Given the description of an element on the screen output the (x, y) to click on. 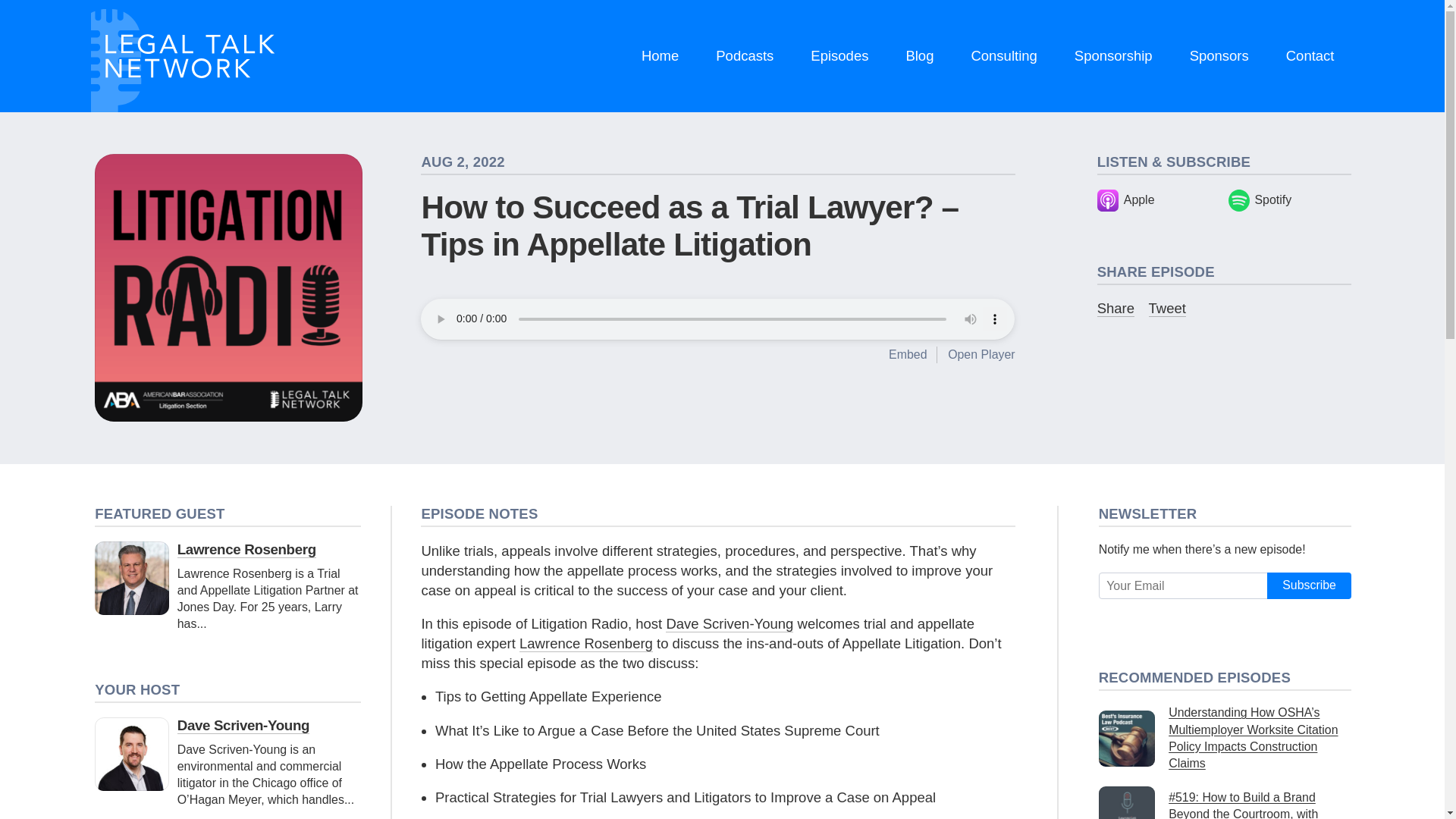
Apple (1158, 200)
Lawrence Rosenberg (246, 549)
Share (1115, 308)
Tweet (1167, 308)
Spotify (1289, 200)
Dave Scriven-Young (729, 623)
Open Player (980, 354)
Subscribe (1308, 585)
Litigation Radio (228, 287)
Sponsorship (1113, 56)
